Given the description of an element on the screen output the (x, y) to click on. 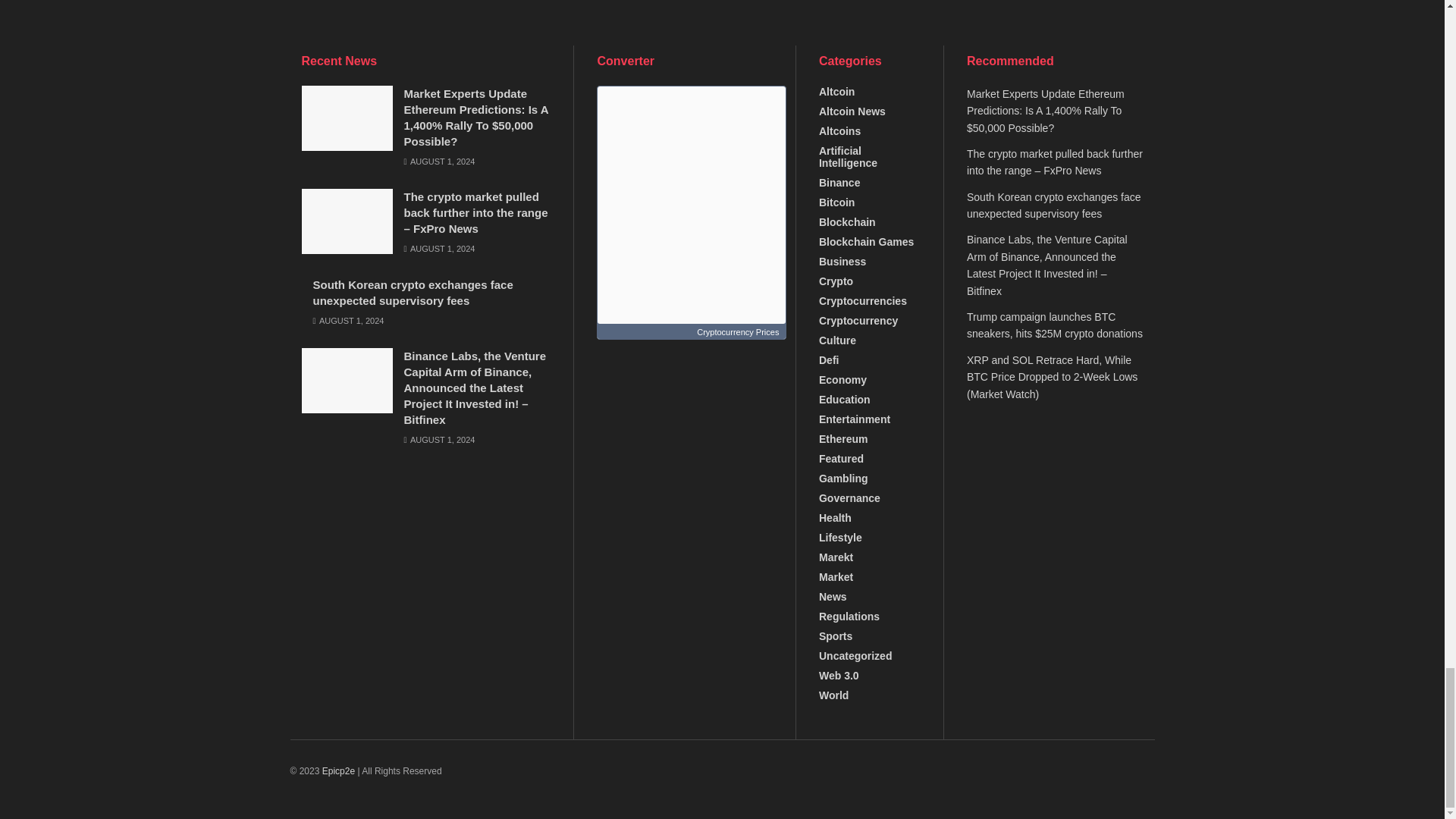
Premium news  (338, 770)
